Given the description of an element on the screen output the (x, y) to click on. 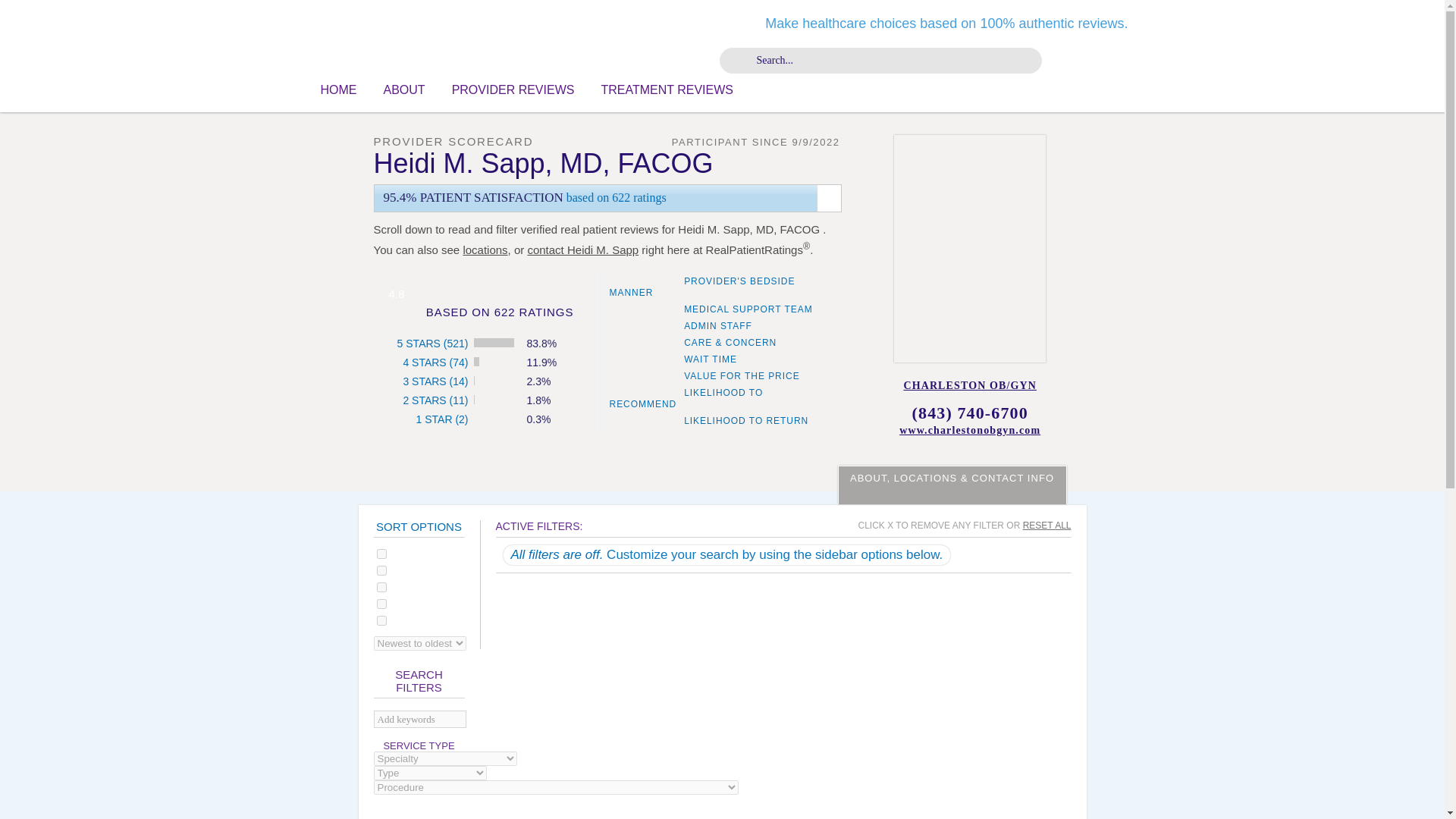
4 (380, 570)
RESET ALL (1047, 525)
locations (484, 249)
PROVIDER REVIEWS (513, 89)
HOME (338, 89)
2 (380, 603)
www.charlestonobgyn.com (970, 430)
5 (380, 553)
3 (380, 587)
